Given the description of an element on the screen output the (x, y) to click on. 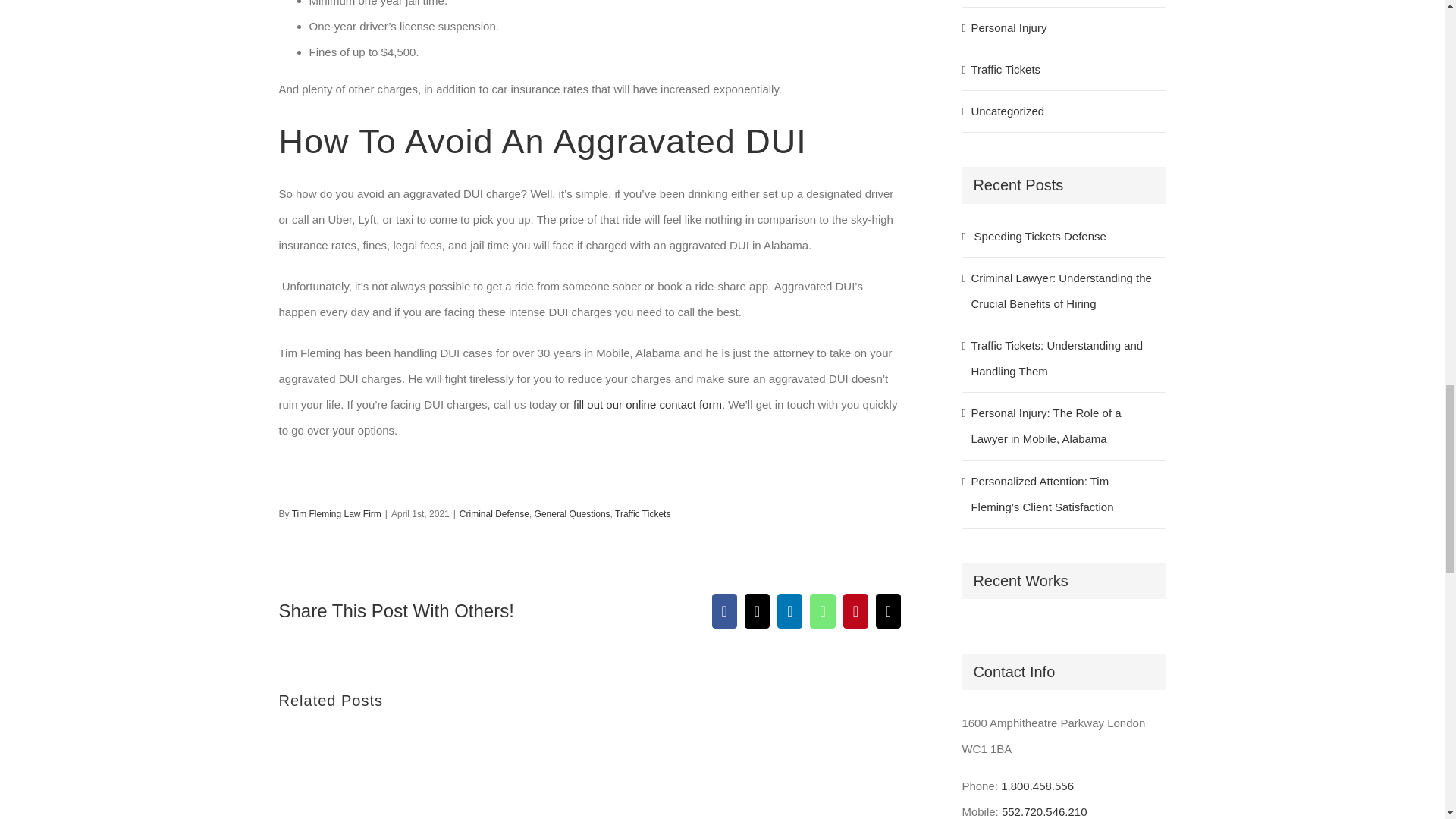
Criminal Defense (494, 513)
Tim Fleming Law Firm (336, 513)
General Questions (572, 513)
Traffic Tickets (641, 513)
Posts by Tim Fleming Law Firm (336, 513)
fill out our online contact form (647, 404)
